Given the description of an element on the screen output the (x, y) to click on. 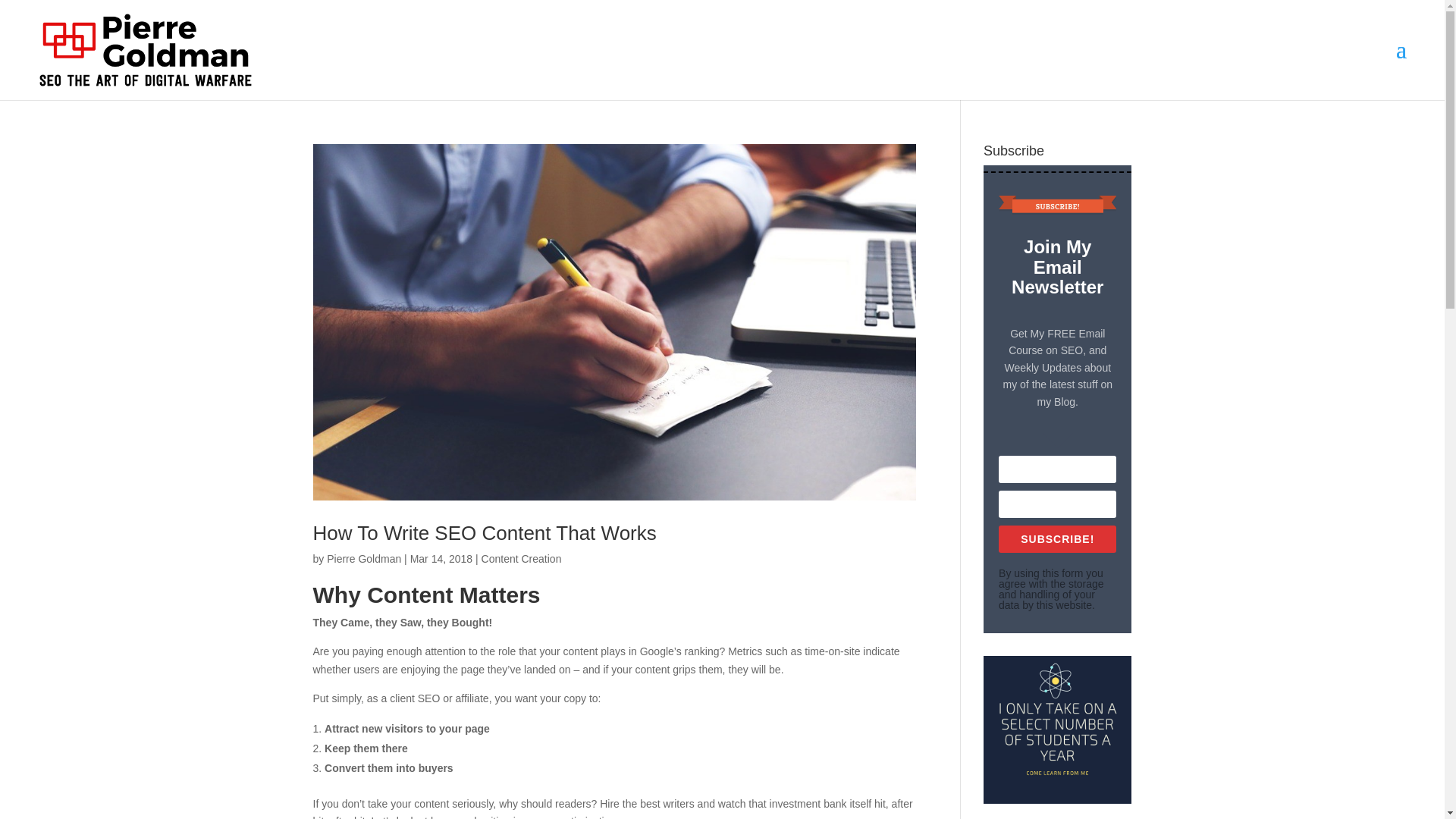
SUBSCRIBE! (1057, 538)
Content Creation (521, 558)
Posts by Pierre Goldman (363, 558)
How To Write SEO Content That Works (484, 532)
Pierre Goldman (363, 558)
